Given the description of an element on the screen output the (x, y) to click on. 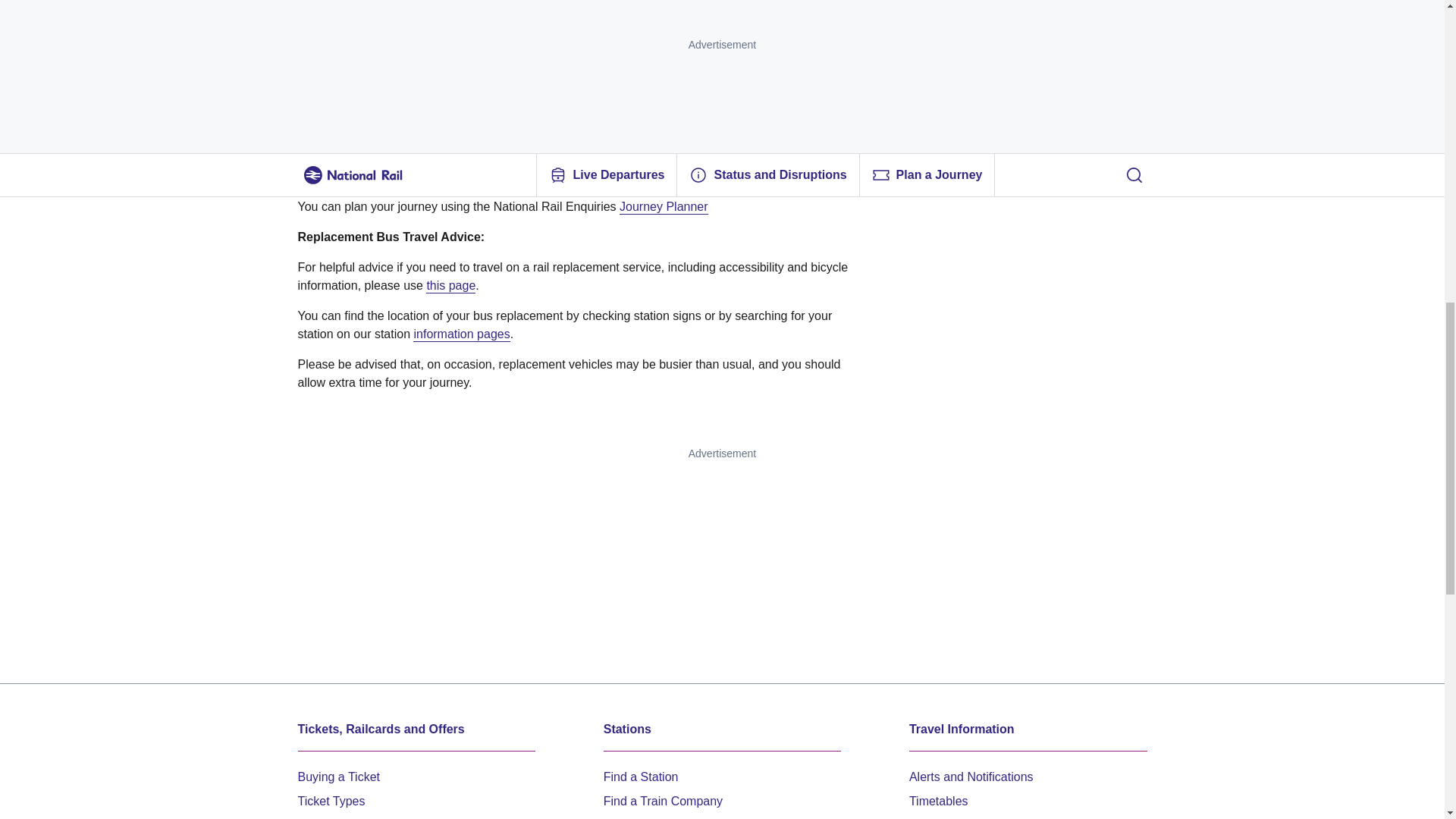
Travel Information (1027, 729)
Find a Train Company (663, 799)
this page (451, 283)
Find a Station (641, 775)
Journey Planner (663, 204)
Tickets, Railcards and Offers (416, 729)
Future Engineering Works (978, 815)
information pages (461, 332)
Engineering work (344, 76)
Ticket Types (331, 799)
